Given the description of an element on the screen output the (x, y) to click on. 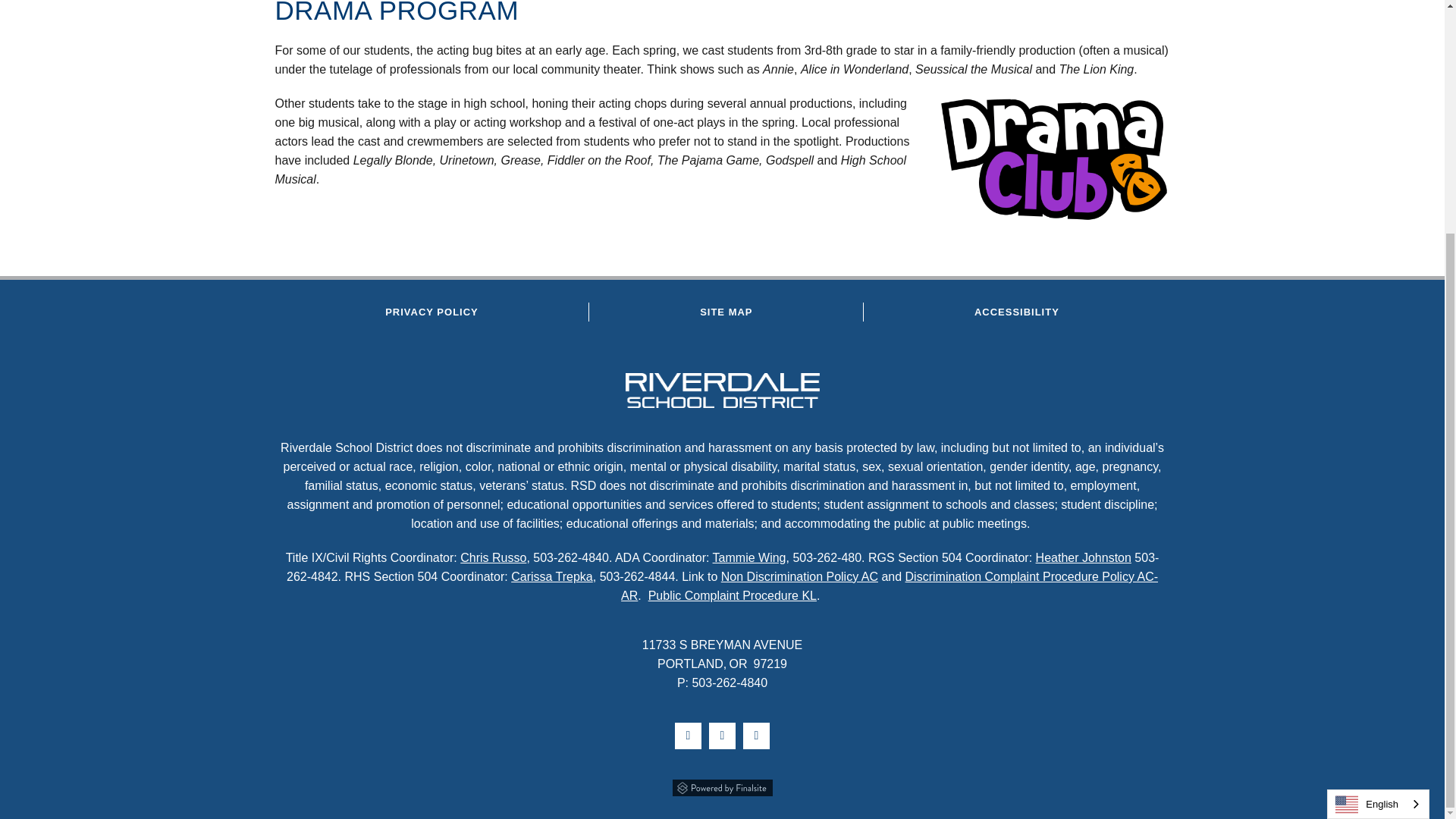
Powered by Finalsite opens in a new window (722, 785)
